Given the description of an element on the screen output the (x, y) to click on. 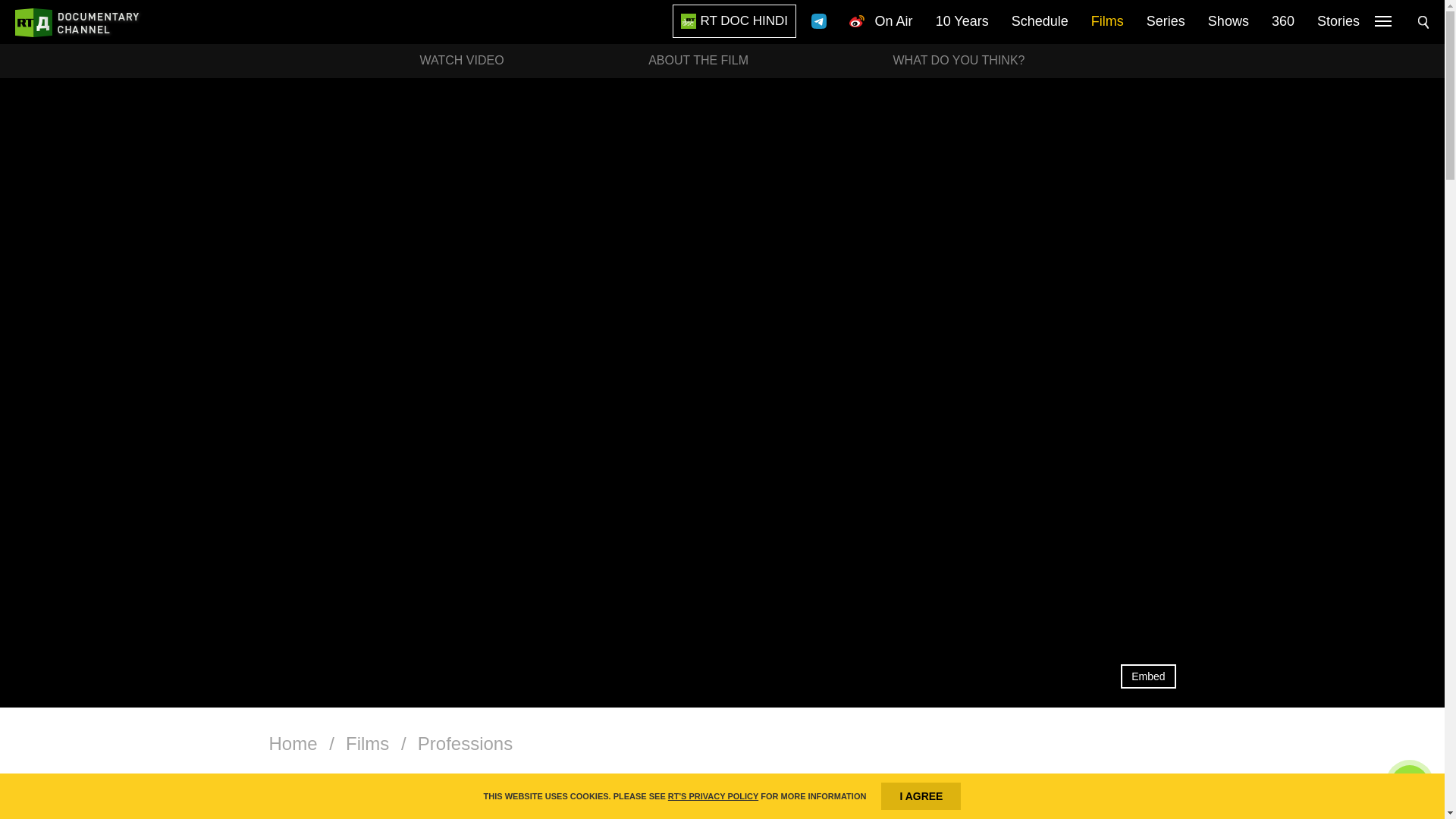
Home (292, 743)
WHAT DO YOU THINK? (959, 60)
Schedule (1039, 22)
Stories (1338, 22)
Films (367, 743)
WATCH VIDEO (461, 60)
Shows (1228, 22)
Professions (464, 743)
10 Years (962, 22)
Embed (1147, 676)
